Given the description of an element on the screen output the (x, y) to click on. 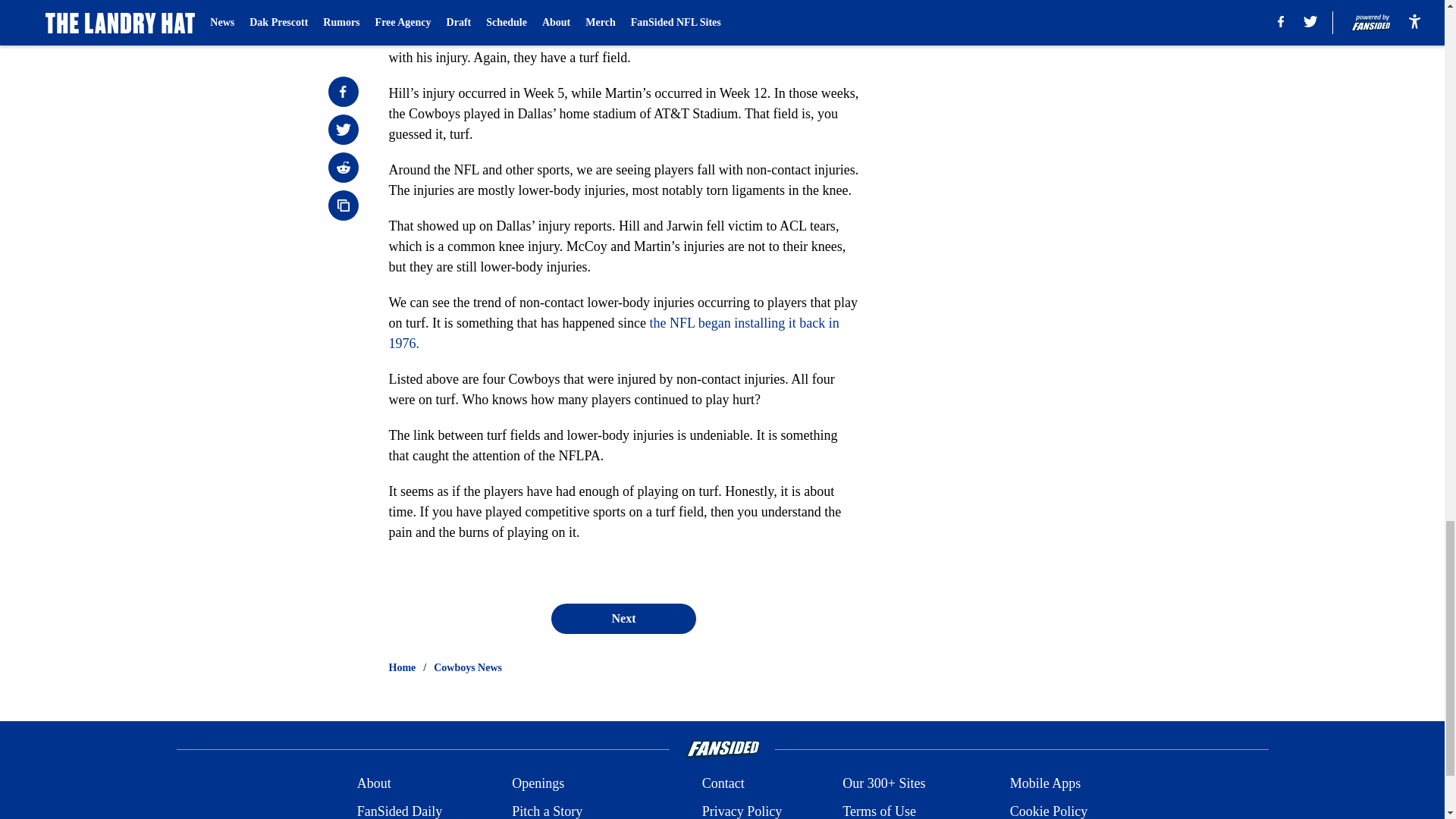
Openings (538, 783)
Privacy Policy (742, 810)
Next (622, 618)
Home (401, 667)
About (373, 783)
the NFL began installing it back in 1976. (613, 333)
Contact (722, 783)
Mobile Apps (1045, 783)
FanSided Daily (399, 810)
Cowboys News (467, 667)
